Given the description of an element on the screen output the (x, y) to click on. 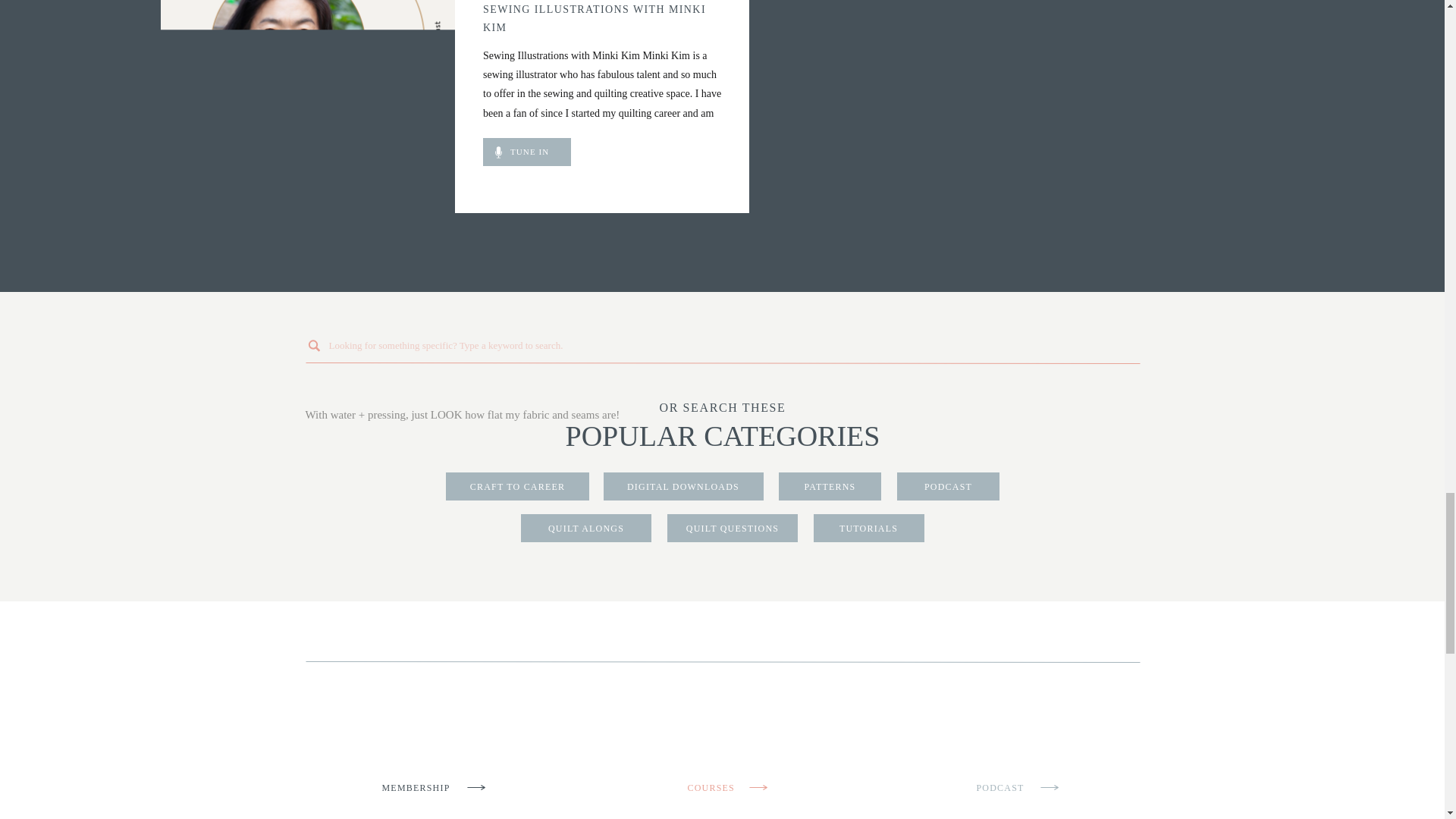
Sewing Illustrations with Minki Kim (540, 152)
Sewing Illustrations with Minki Kim (307, 106)
Sewing Illustrations with Minki Kim (526, 152)
